Given the description of an element on the screen output the (x, y) to click on. 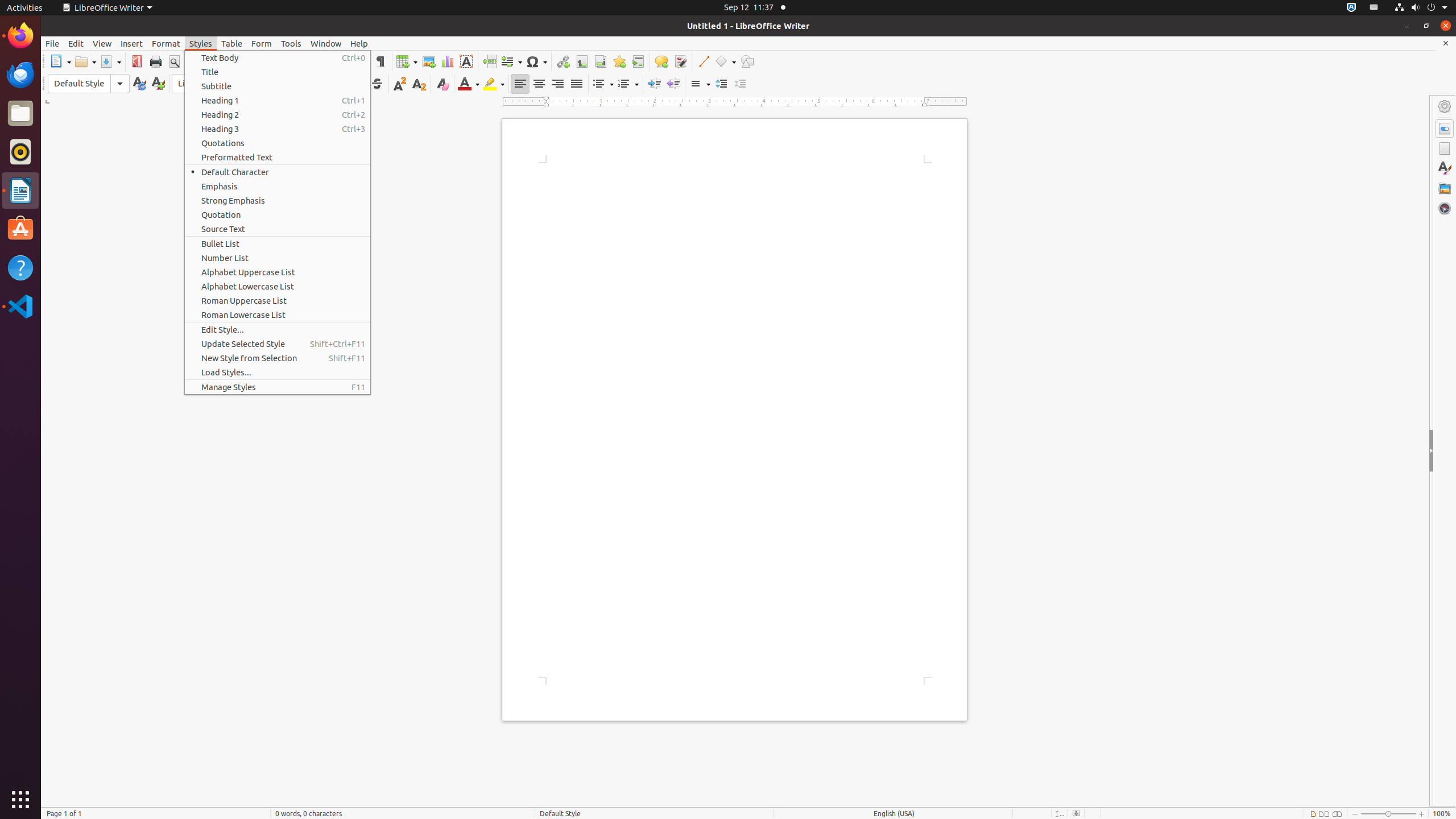
Source Text Element type: radio-menu-item (277, 228)
Clear Element type: push-button (441, 83)
Bullets Element type: push-button (602, 83)
Save Element type: push-button (109, 61)
LibreOffice Writer Element type: push-button (20, 190)
